Given the description of an element on the screen output the (x, y) to click on. 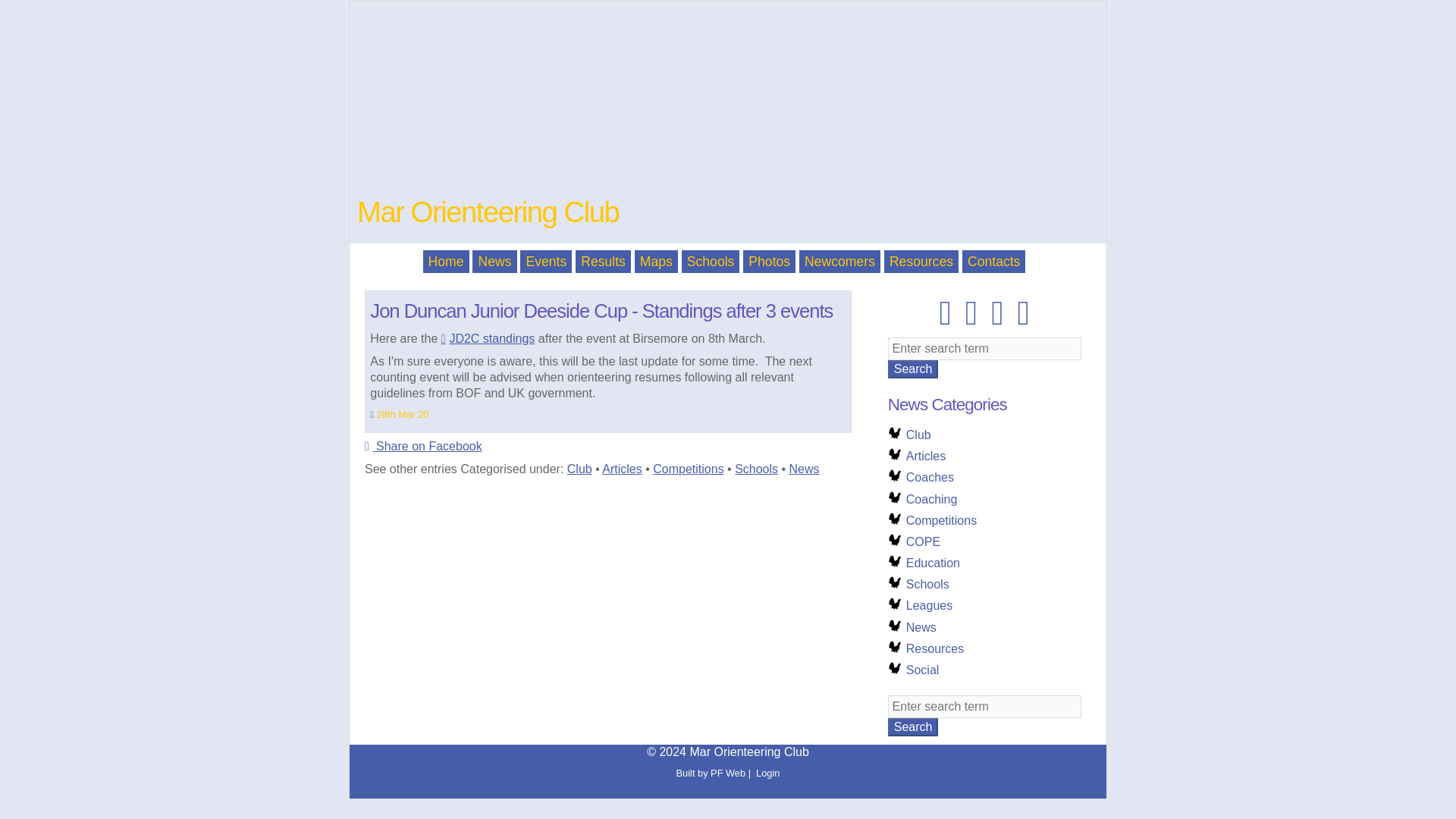
Schools (756, 468)
View our range of maps (656, 261)
Results (602, 261)
Photos (768, 261)
Who to contact (994, 261)
Search (913, 727)
Details of future events (545, 261)
Search (913, 369)
Contacts (994, 261)
share on facebook (426, 445)
